Given the description of an element on the screen output the (x, y) to click on. 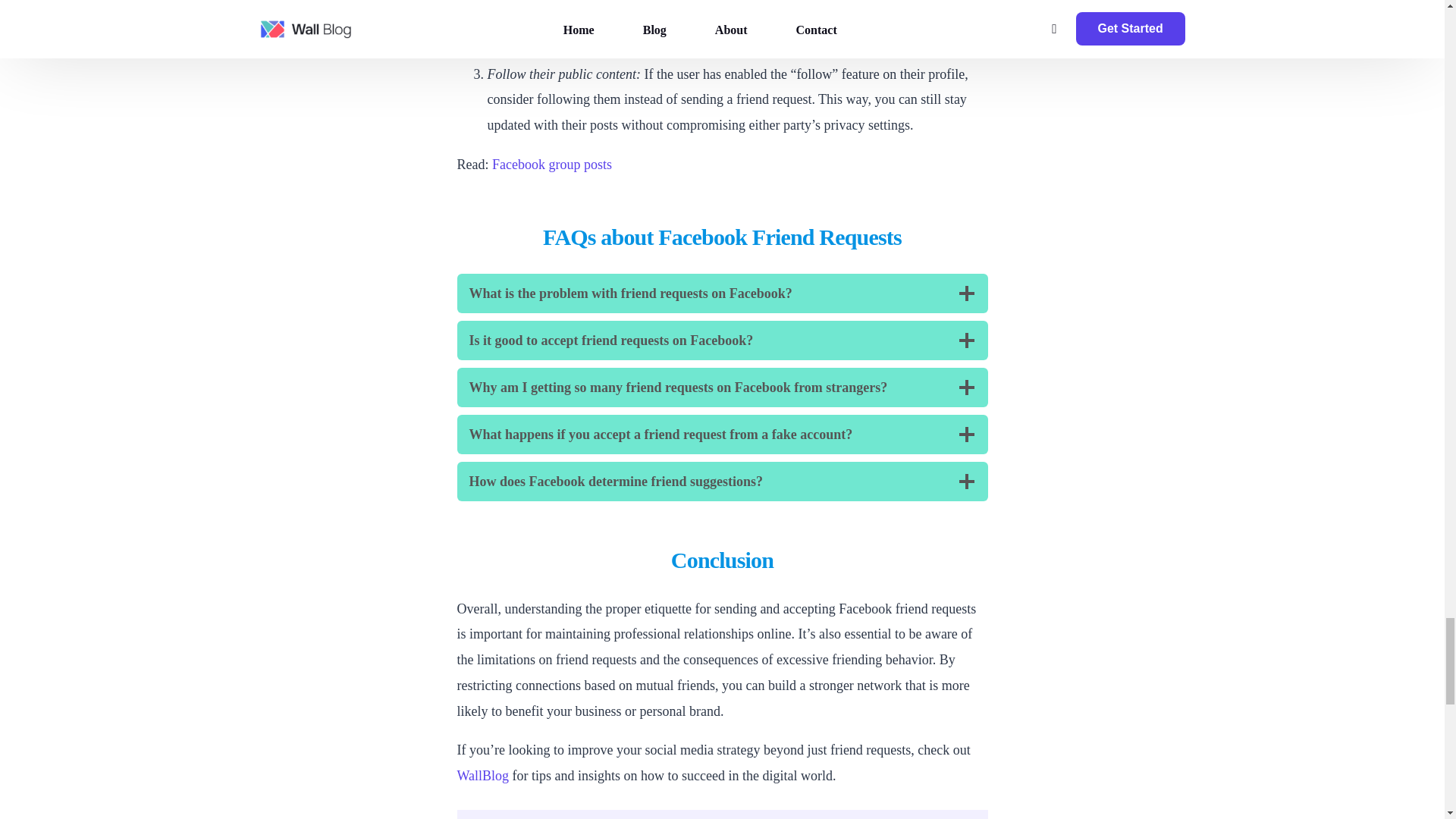
How does Facebook determine friend suggestions? (722, 481)
WallBlog (482, 775)
Facebook group posts (551, 164)
Is it good to accept friend requests on Facebook? (722, 340)
What is the problem with friend requests on Facebook? (722, 292)
